Given the description of an element on the screen output the (x, y) to click on. 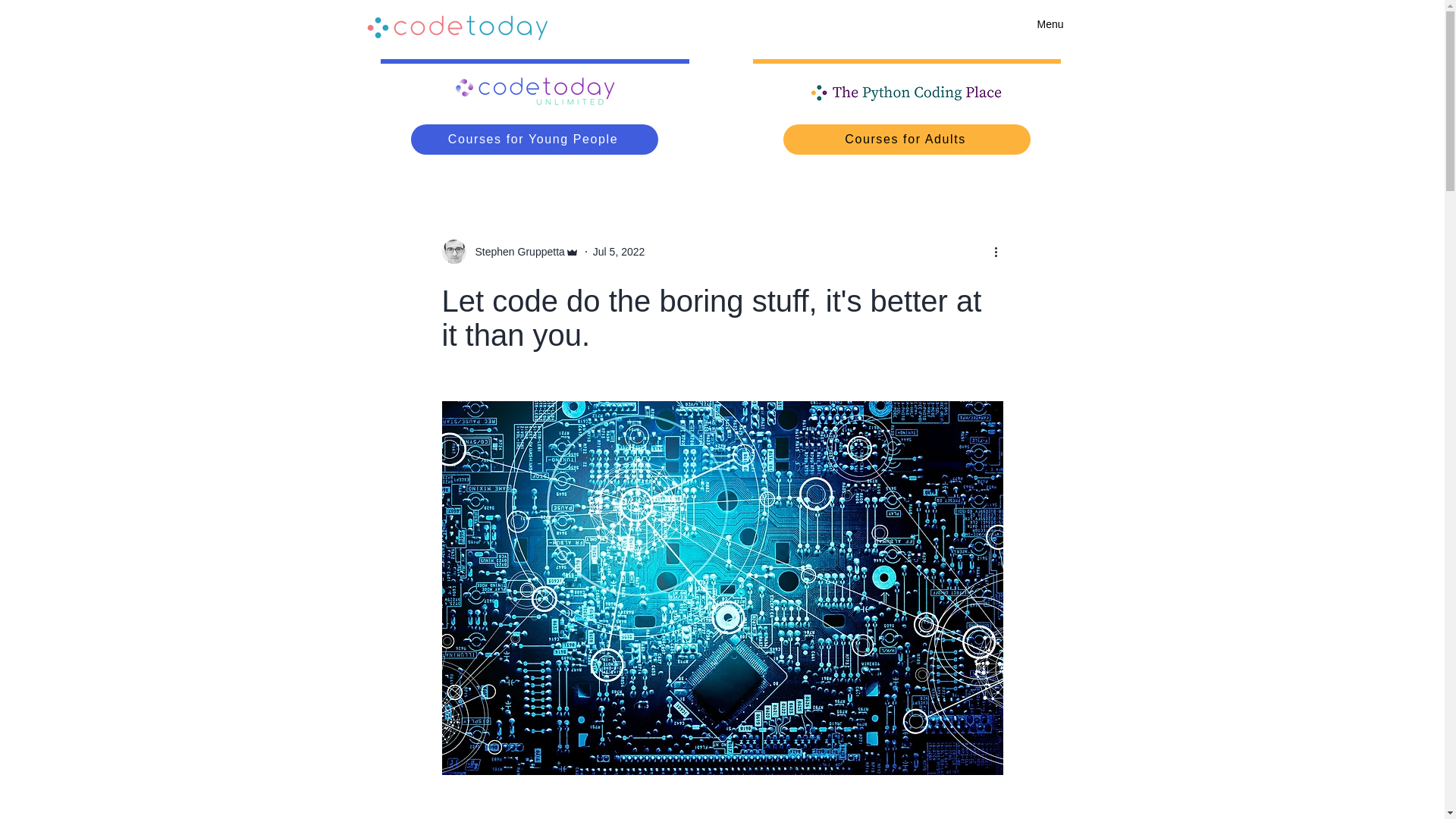
Jul 5, 2022 (618, 251)
Stephen Gruppetta (514, 252)
8.png (534, 93)
Stephen Gruppetta (509, 251)
Courses for Young People (534, 139)
8.png (907, 92)
Courses for Adults (906, 139)
